Given the description of an element on the screen output the (x, y) to click on. 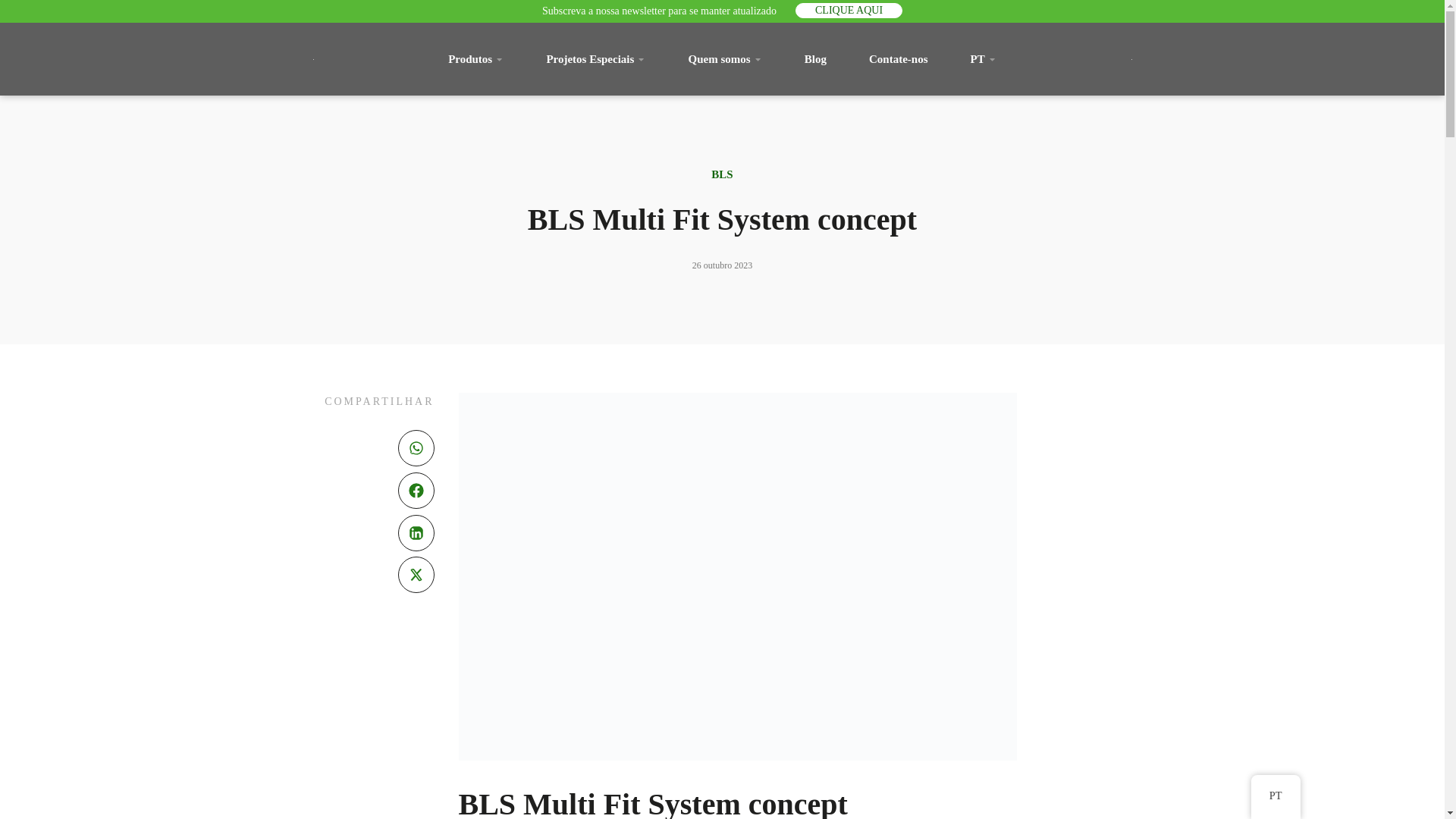
PT (983, 58)
Projetos Especiais (596, 58)
Contate-nos (898, 58)
Quem somos (725, 58)
Blog (815, 58)
CLIQUE AQUI (848, 10)
Produtos (475, 58)
